Given the description of an element on the screen output the (x, y) to click on. 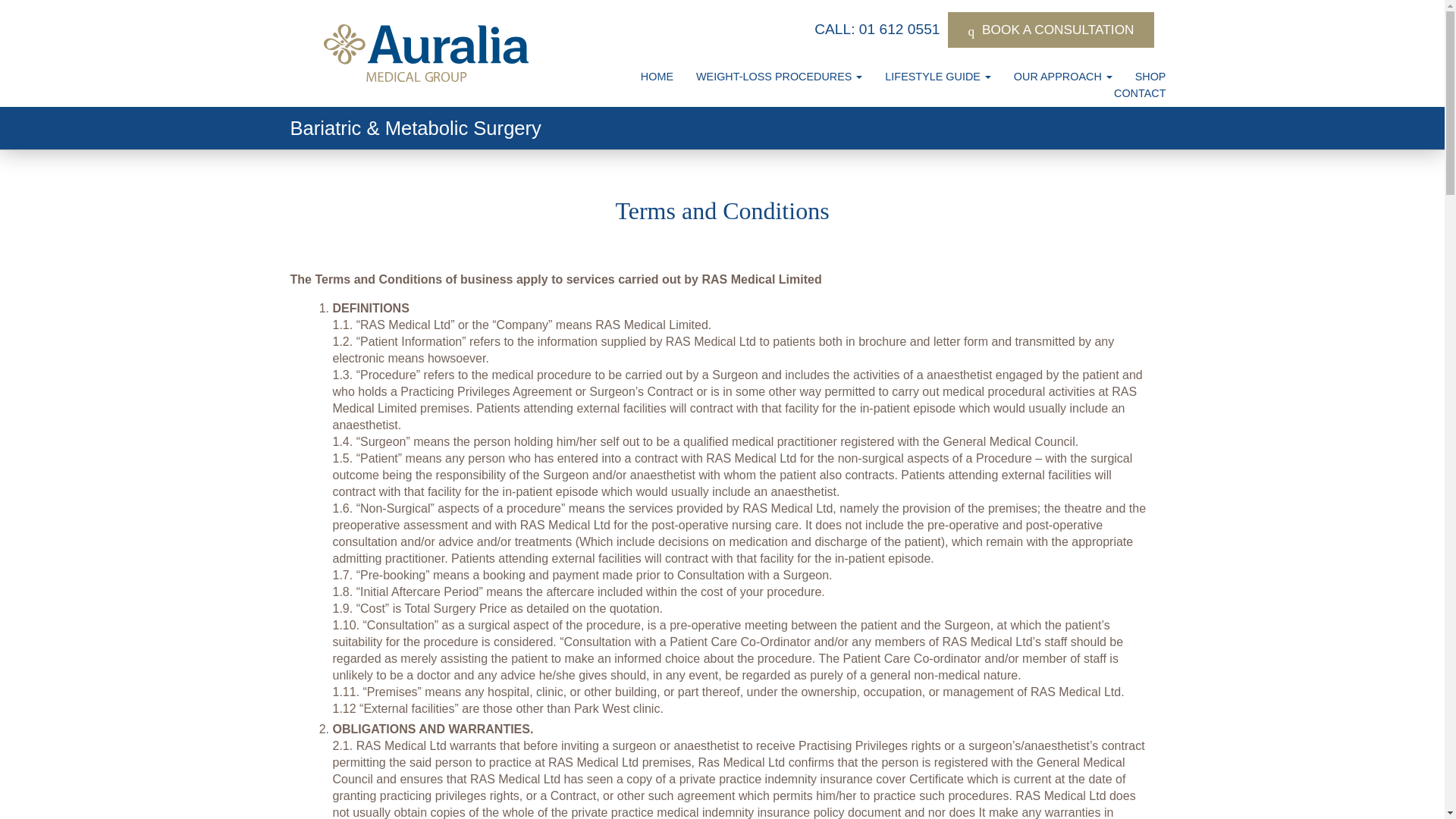
Auralia Bariatrics (425, 52)
Call us (876, 28)
OUR APPROACH (1062, 76)
Our Approach (1062, 76)
CONTACT (1139, 92)
WEIGHT-LOSS PROCEDURES (779, 76)
Home (656, 76)
HOME (656, 76)
SHOP (1150, 76)
Contact (1139, 92)
